Given the description of an element on the screen output the (x, y) to click on. 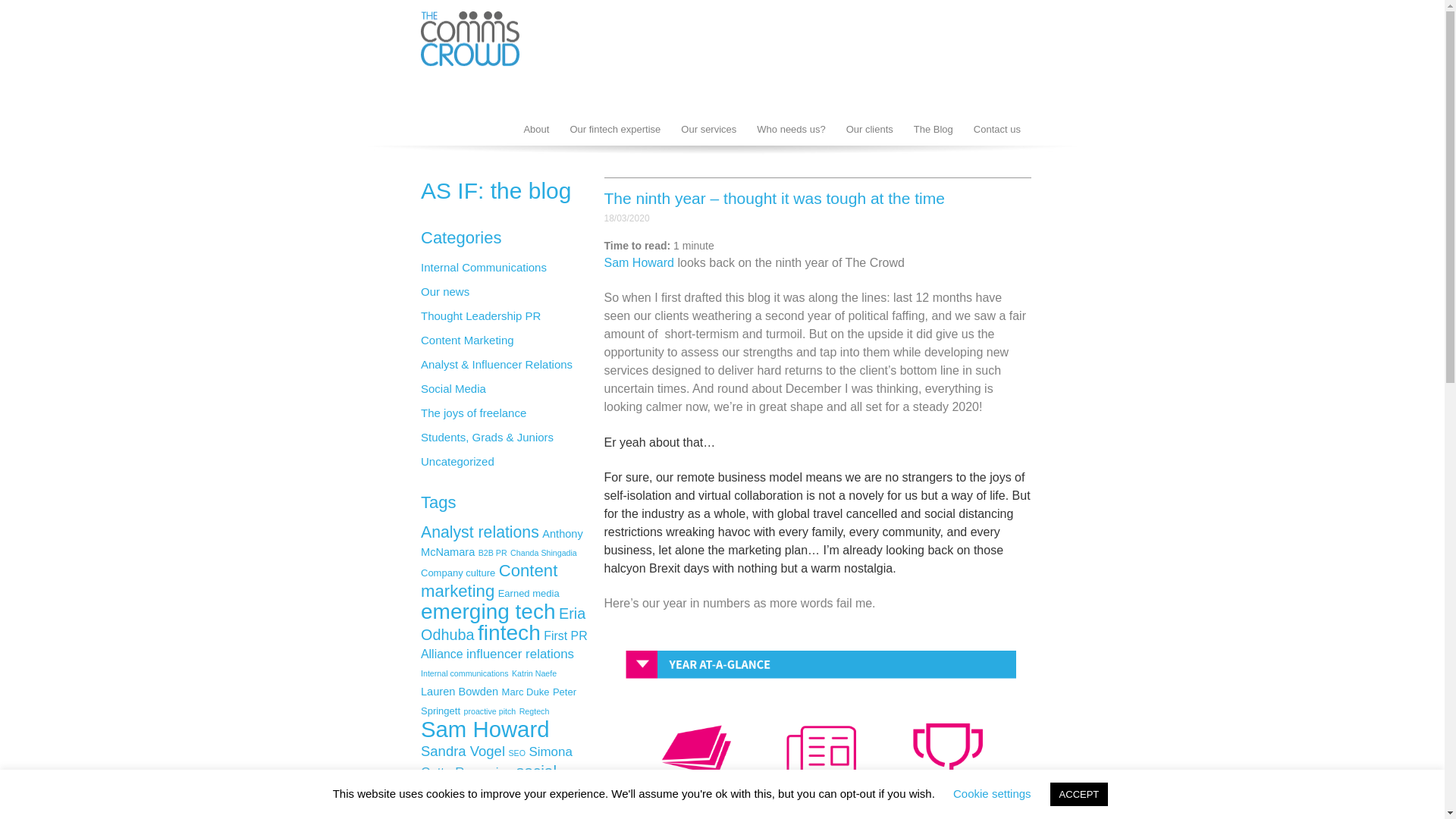
B2B PR (492, 552)
Our services (708, 129)
Social Media (453, 388)
The Blog (933, 129)
Our news (444, 291)
Content Marketing (466, 339)
Chanda Shingadia (543, 552)
The joys of freelance (472, 412)
proactive pitch (490, 710)
Analyst relations (479, 532)
Who needs us? (790, 129)
Marc Duke (526, 691)
Anthony McNamara (501, 542)
Regtech (534, 710)
Content marketing (488, 580)
